Given the description of an element on the screen output the (x, y) to click on. 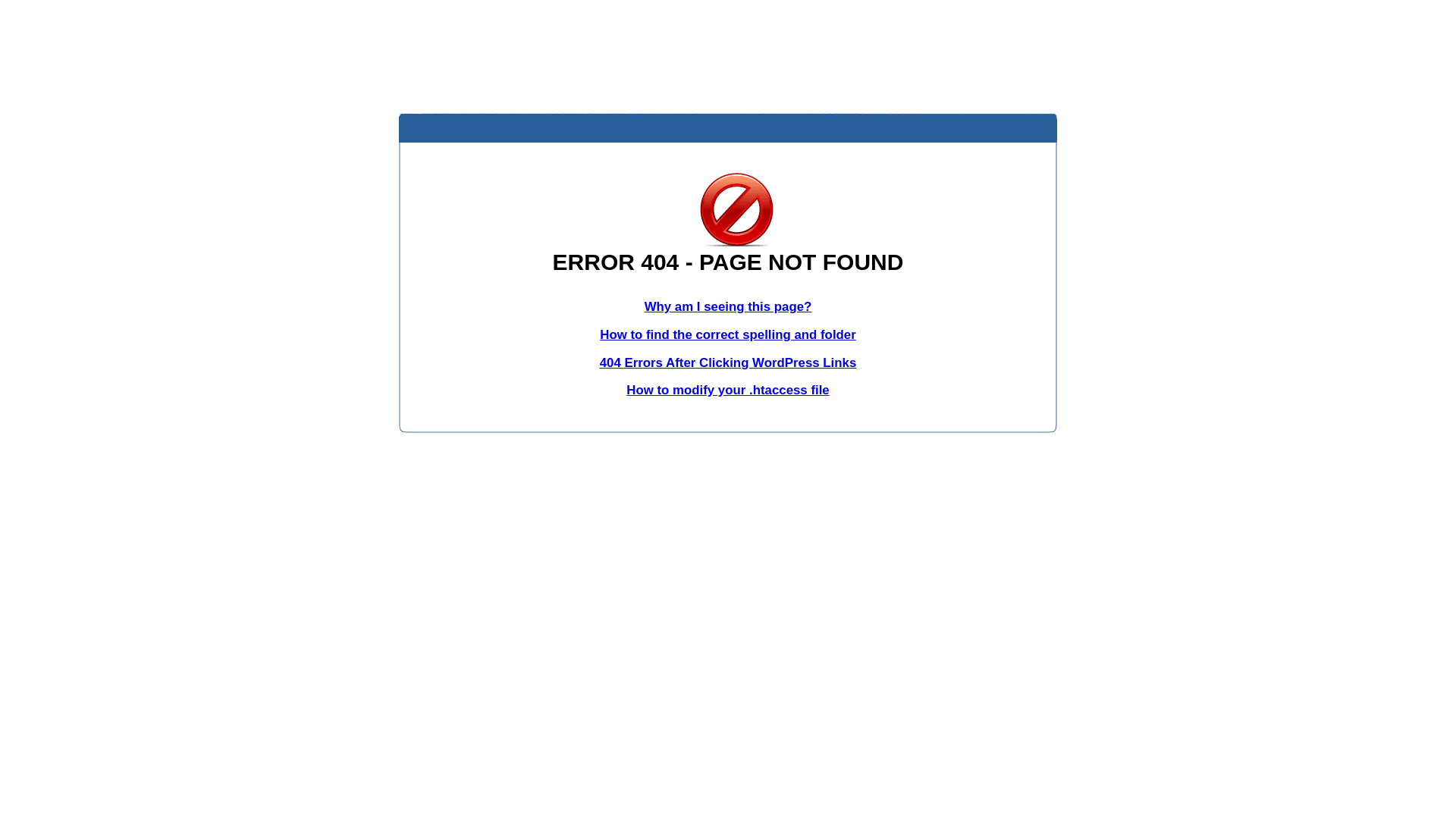
404 Errors After Clicking WordPress Links Element type: text (727, 362)
How to modify your .htaccess file Element type: text (727, 389)
Why am I seeing this page? Element type: text (728, 306)
How to find the correct spelling and folder Element type: text (727, 334)
